Given the description of an element on the screen output the (x, y) to click on. 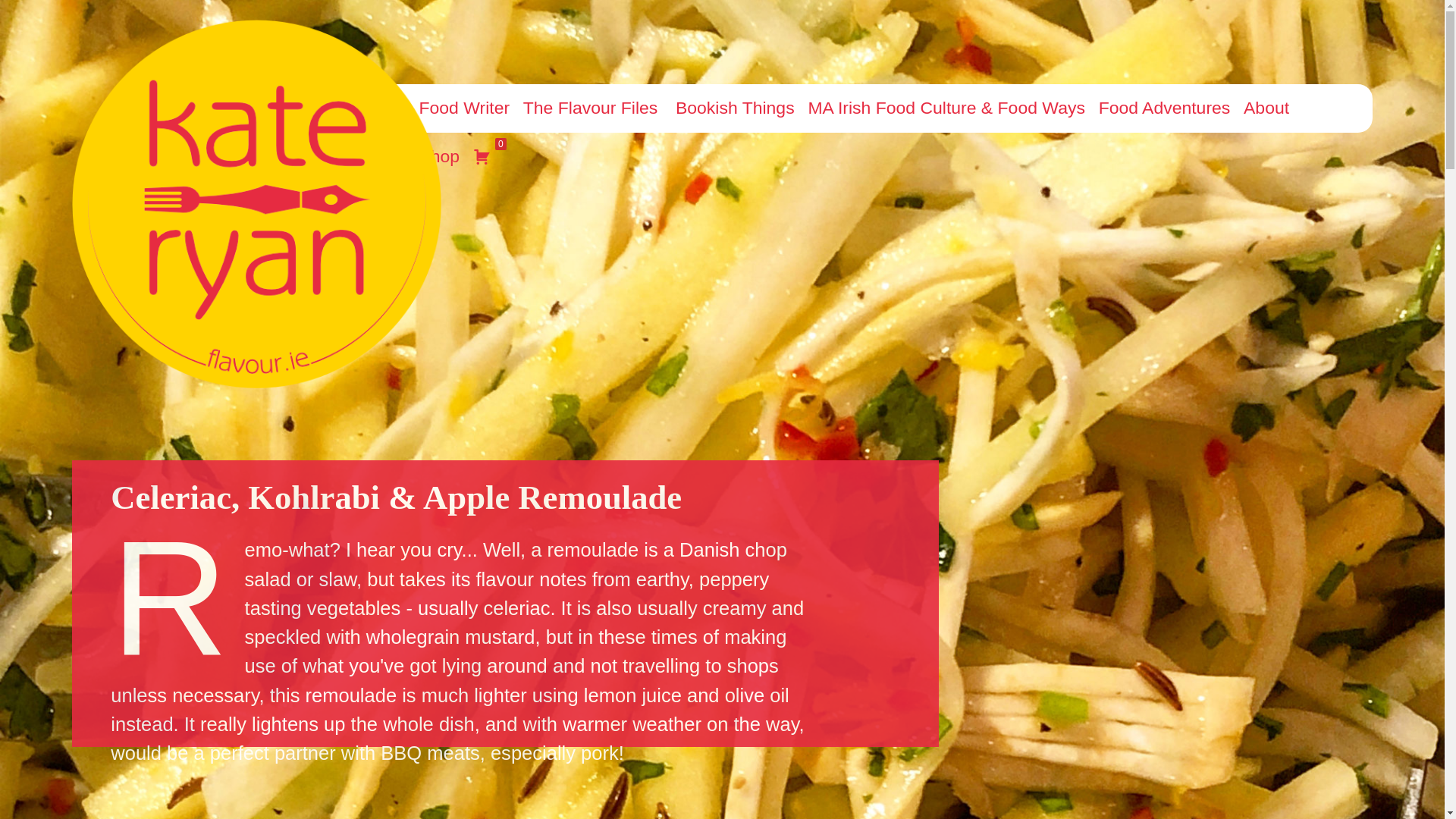
Food Writer (462, 108)
Shop (437, 156)
Bookish Things (732, 108)
About (1264, 108)
Food Adventures (1162, 108)
The Flavour Files (590, 108)
